Given the description of an element on the screen output the (x, y) to click on. 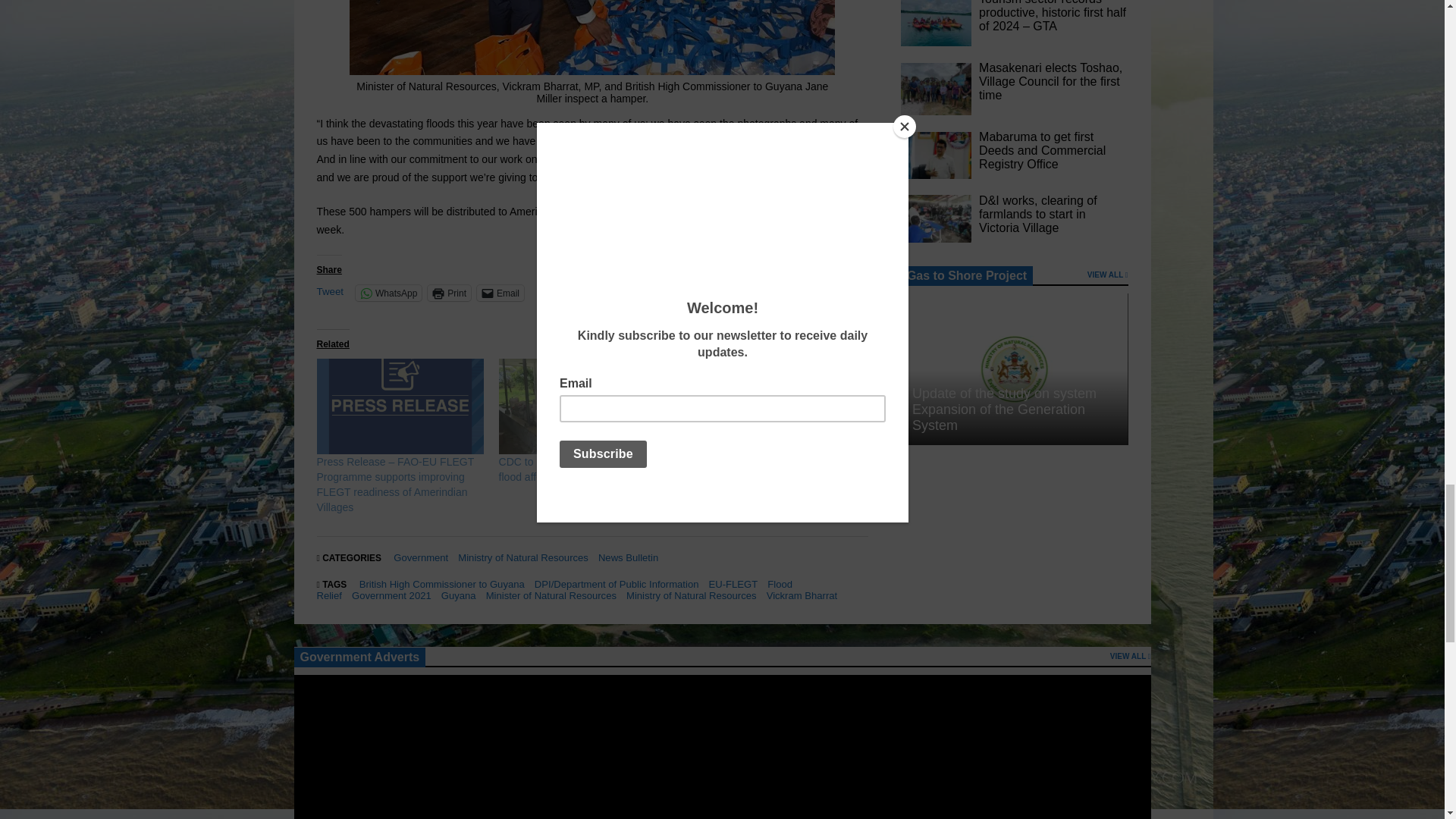
Click to share on WhatsApp (388, 293)
Click to print (449, 293)
Click to email a link to a friend (500, 293)
